Given the description of an element on the screen output the (x, y) to click on. 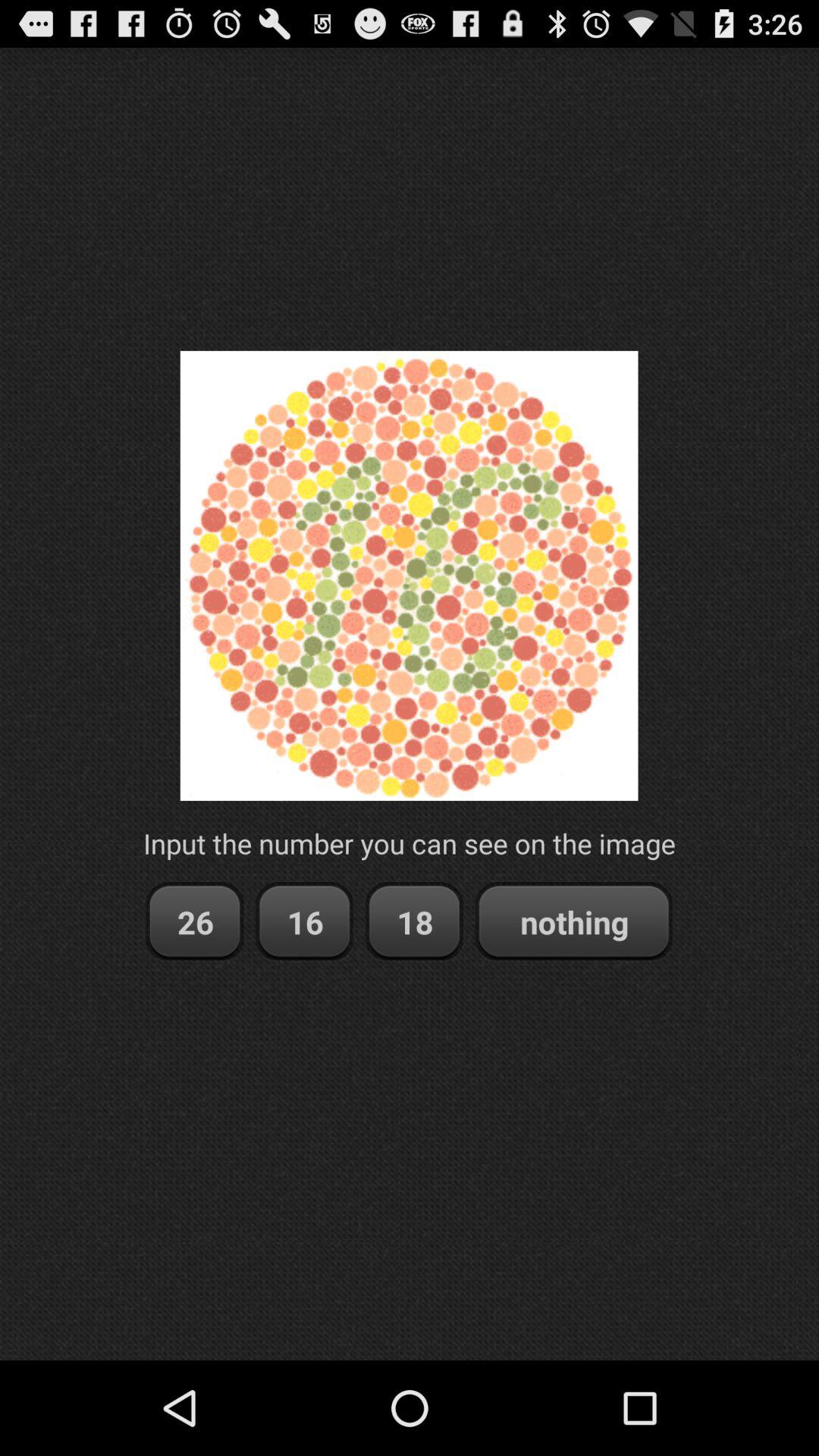
click app below the input the number app (573, 921)
